Given the description of an element on the screen output the (x, y) to click on. 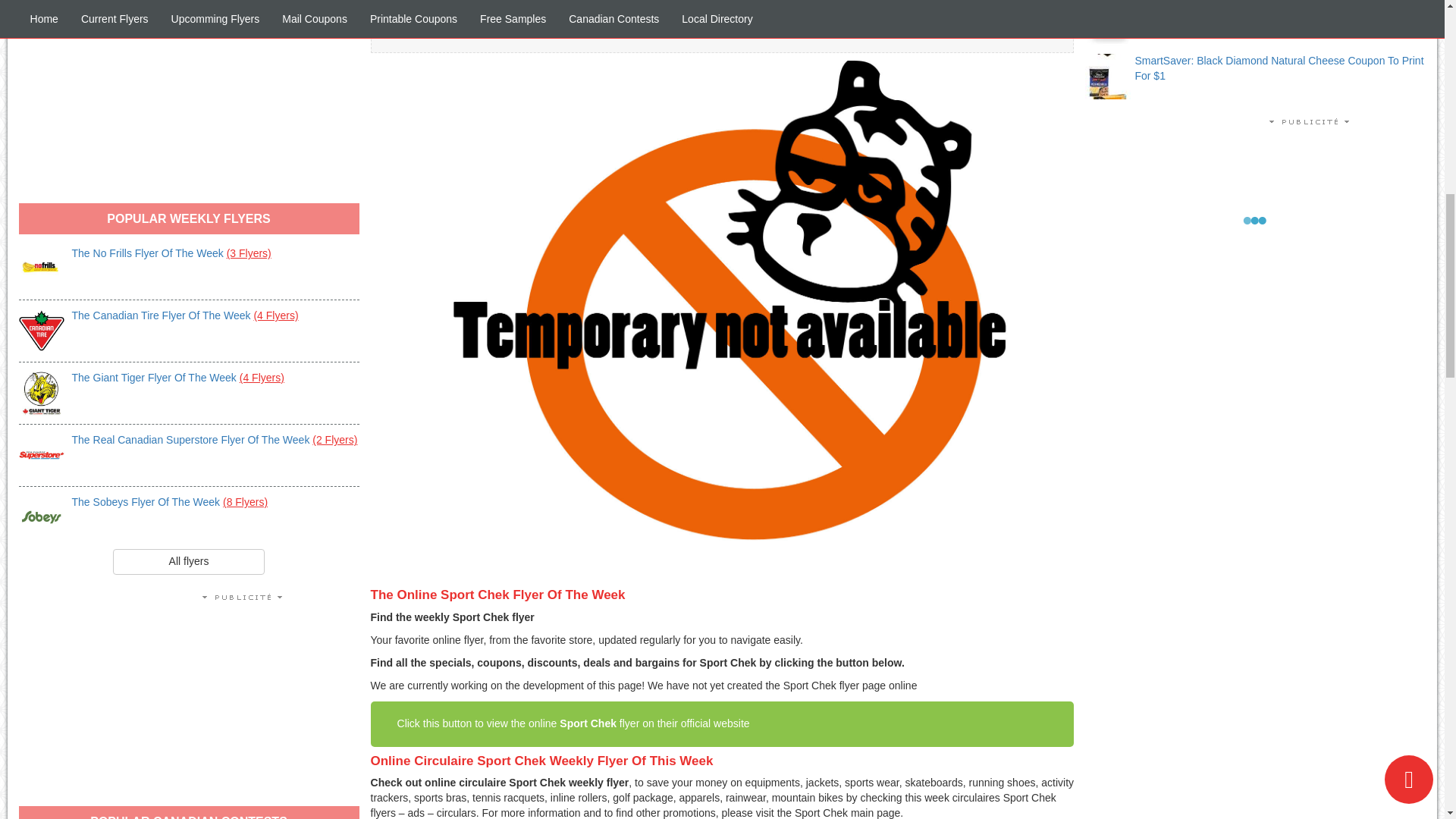
All flyers (188, 561)
Advertisement (188, 94)
